Given the description of an element on the screen output the (x, y) to click on. 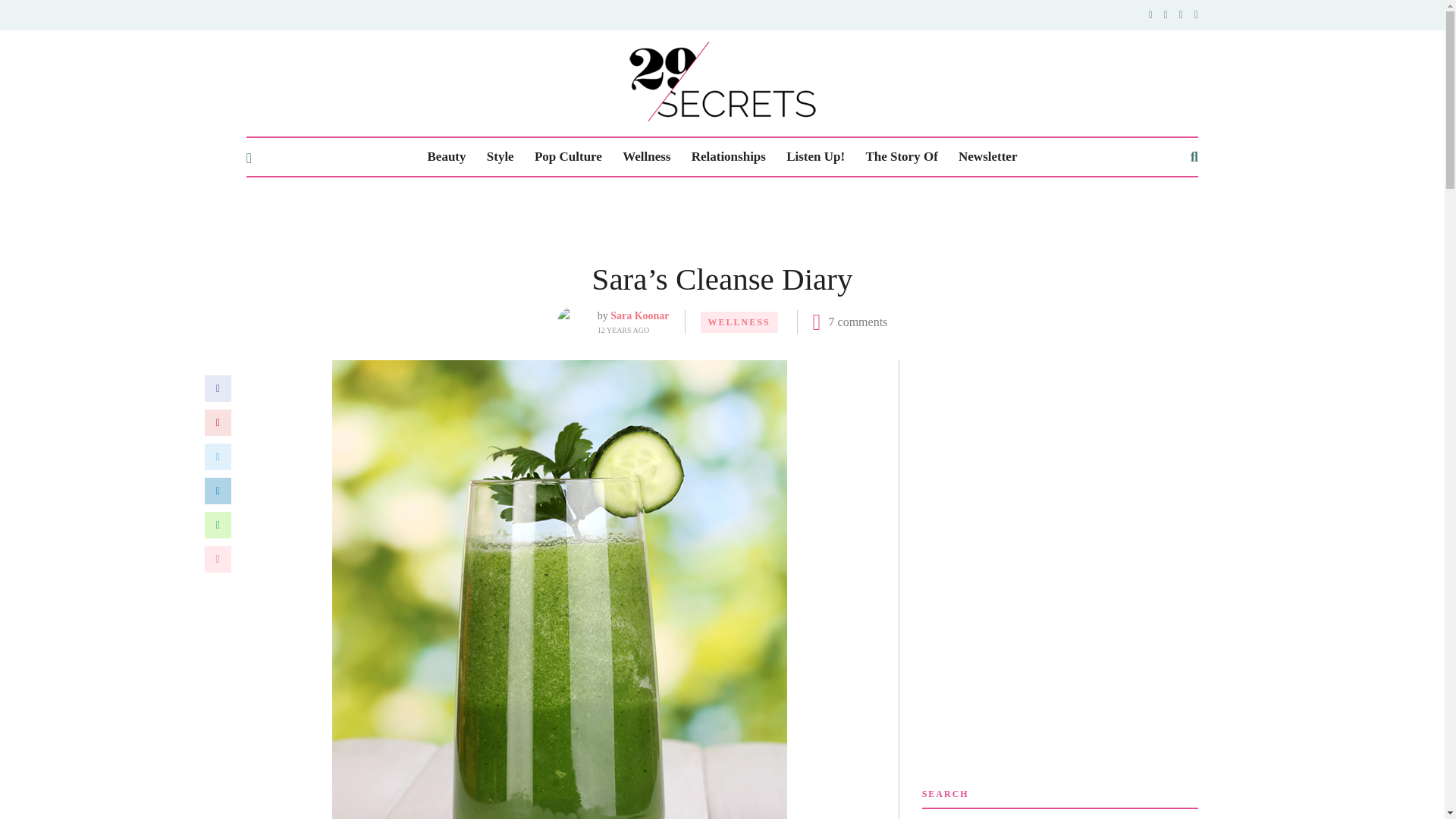
Listen Up! (815, 157)
Pop Culture (568, 157)
7 comments (858, 321)
Wellness (646, 157)
Beauty (446, 157)
29Secrets (721, 81)
The Story Of (900, 157)
Newsletter (987, 157)
Sara Koonar (639, 315)
WELLNESS (738, 322)
Relationships (728, 157)
